Given the description of an element on the screen output the (x, y) to click on. 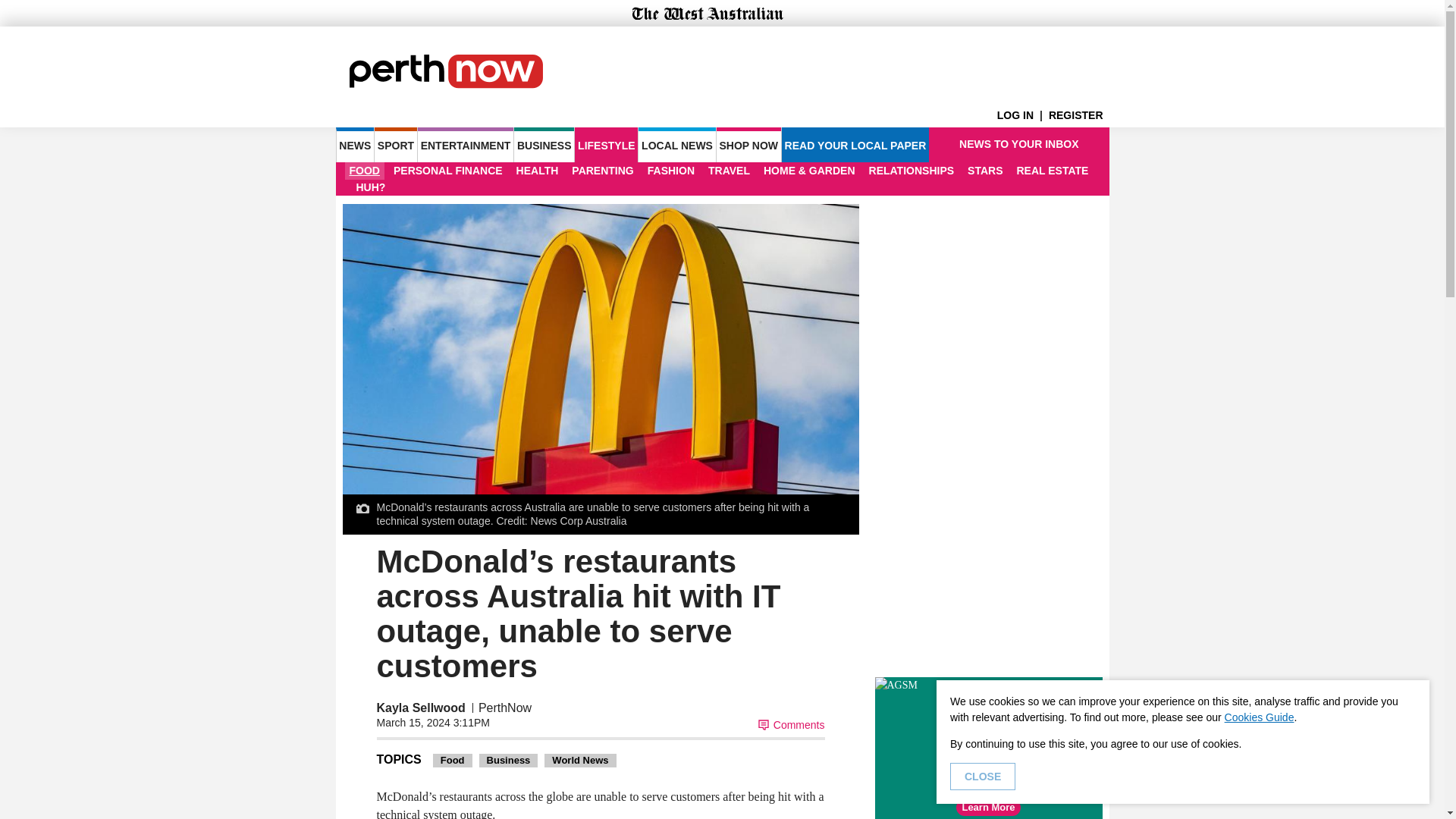
REGISTER (1078, 115)
ENTERTAINMENT (465, 144)
NEWS (354, 144)
SPORT (395, 144)
LOG IN (1022, 115)
